Given the description of an element on the screen output the (x, y) to click on. 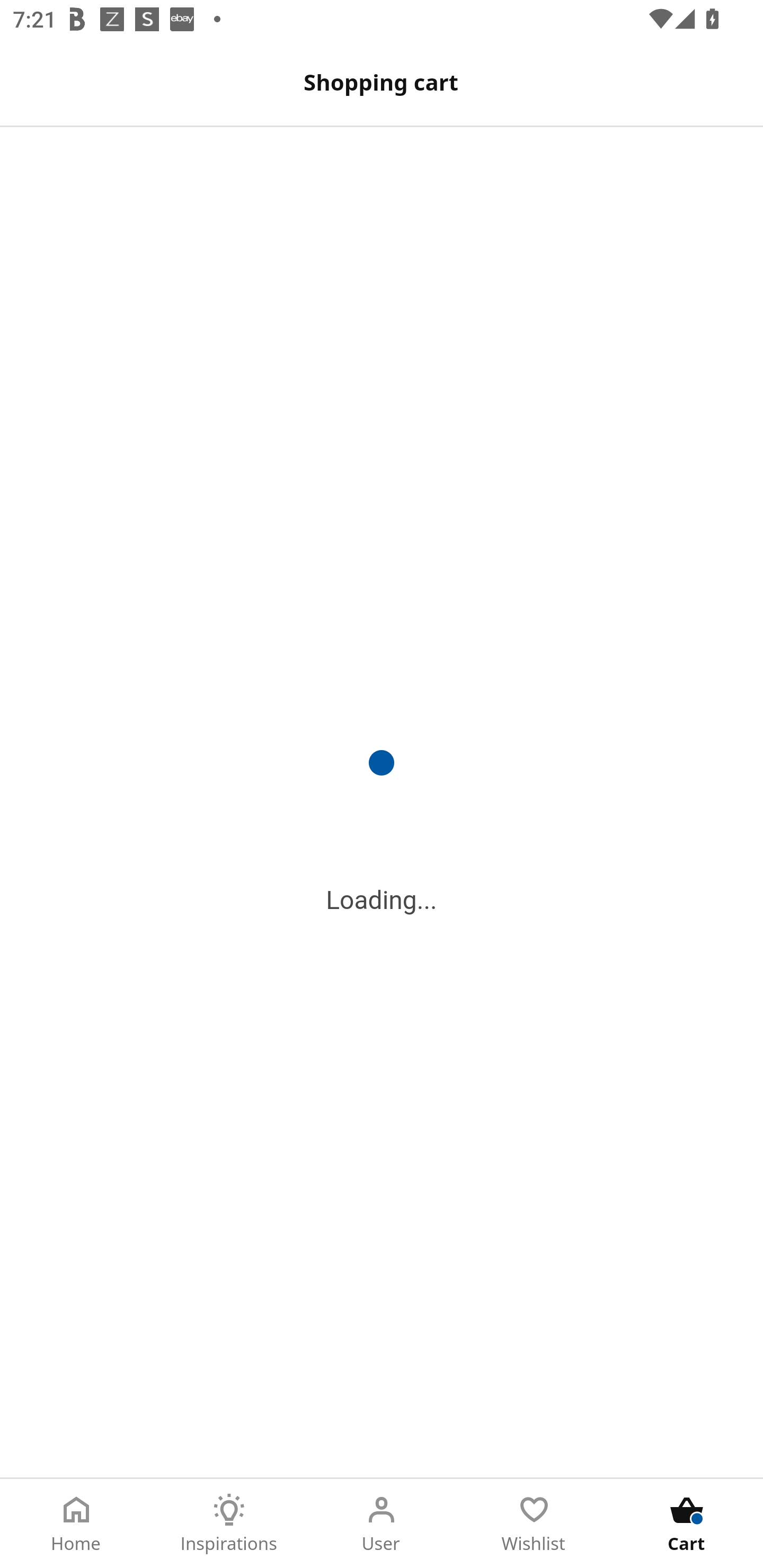
Home
Tab 1 of 5 (76, 1522)
Inspirations
Tab 2 of 5 (228, 1522)
User
Tab 3 of 5 (381, 1522)
Wishlist
Tab 4 of 5 (533, 1522)
Cart
Tab 5 of 5 (686, 1522)
